Given the description of an element on the screen output the (x, y) to click on. 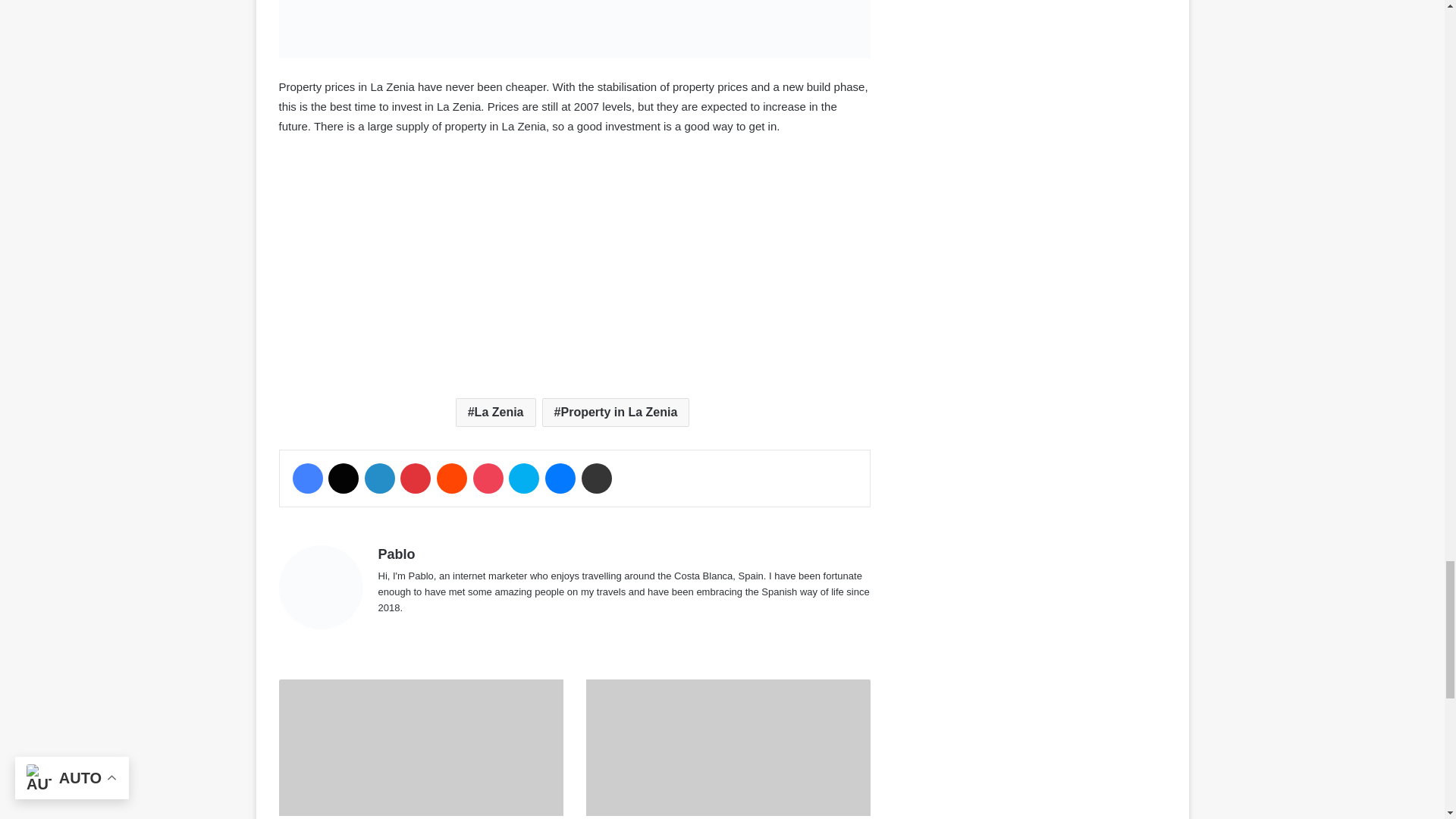
La Zenia (495, 412)
Reddit (451, 478)
Facebook (307, 478)
Property in La Zenia (615, 412)
Pinterest (415, 478)
Skype (523, 478)
X (343, 478)
LinkedIn (379, 478)
Pocket (488, 478)
